Given the description of an element on the screen output the (x, y) to click on. 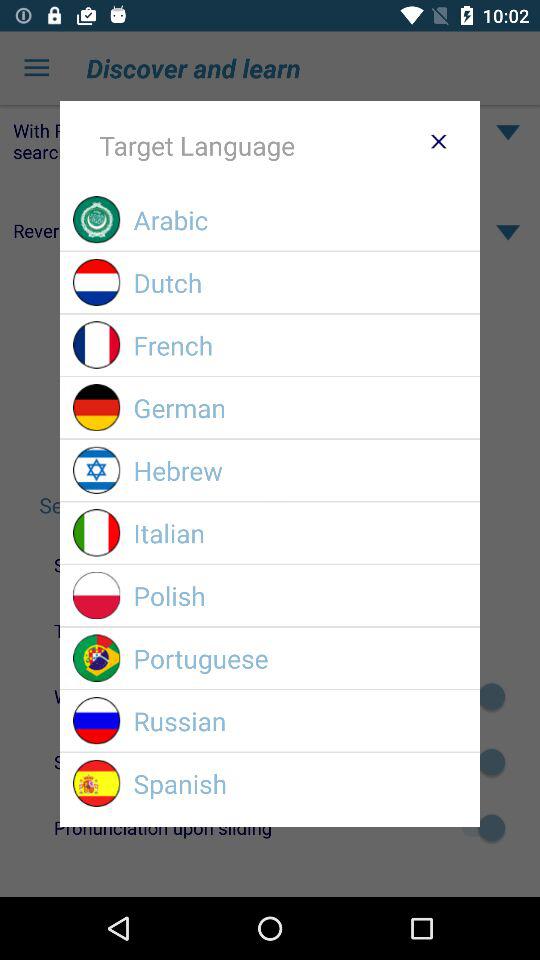
tap italian item (300, 532)
